Given the description of an element on the screen output the (x, y) to click on. 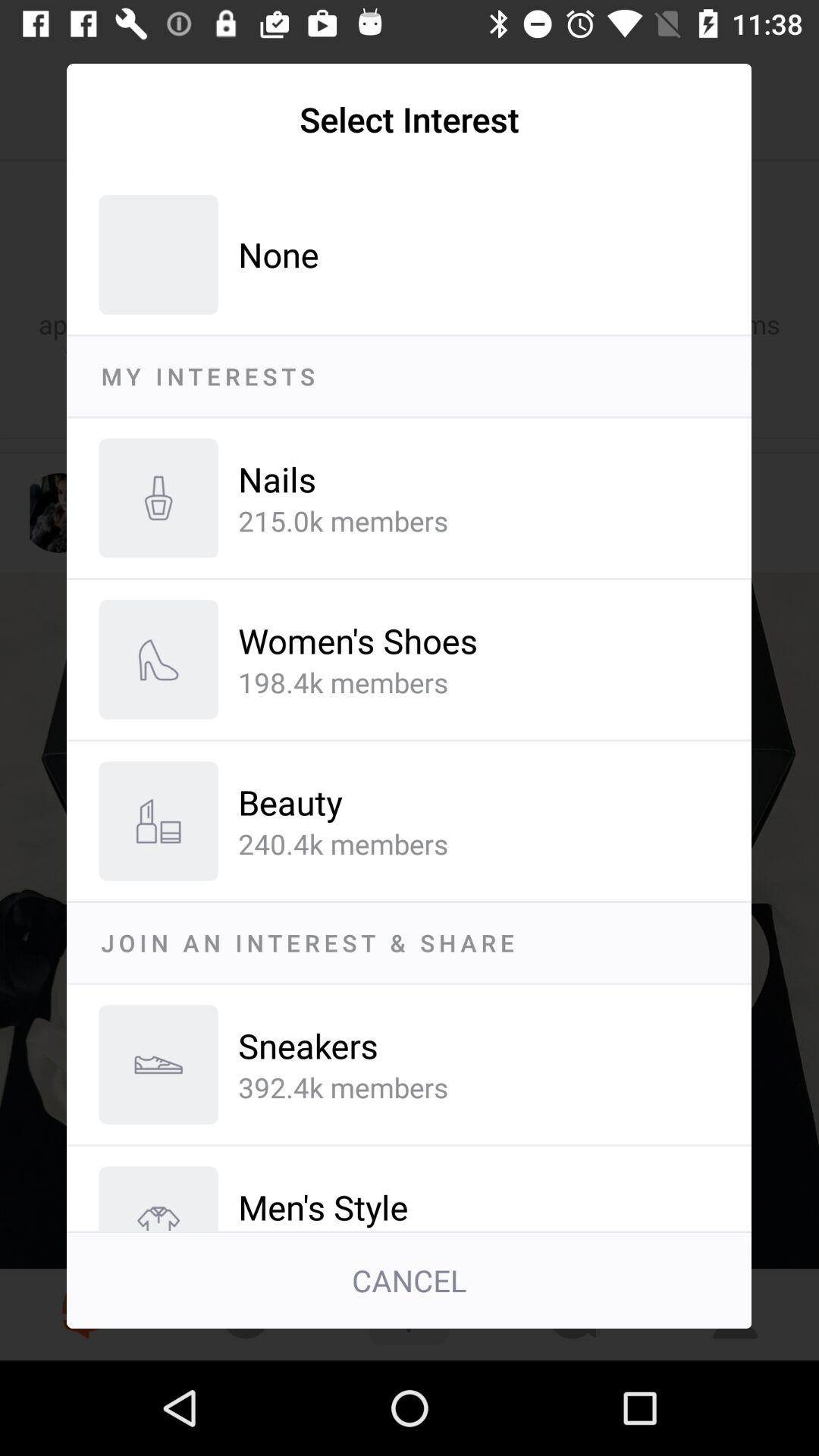
scroll to the cancel item (409, 1280)
